Given the description of an element on the screen output the (x, y) to click on. 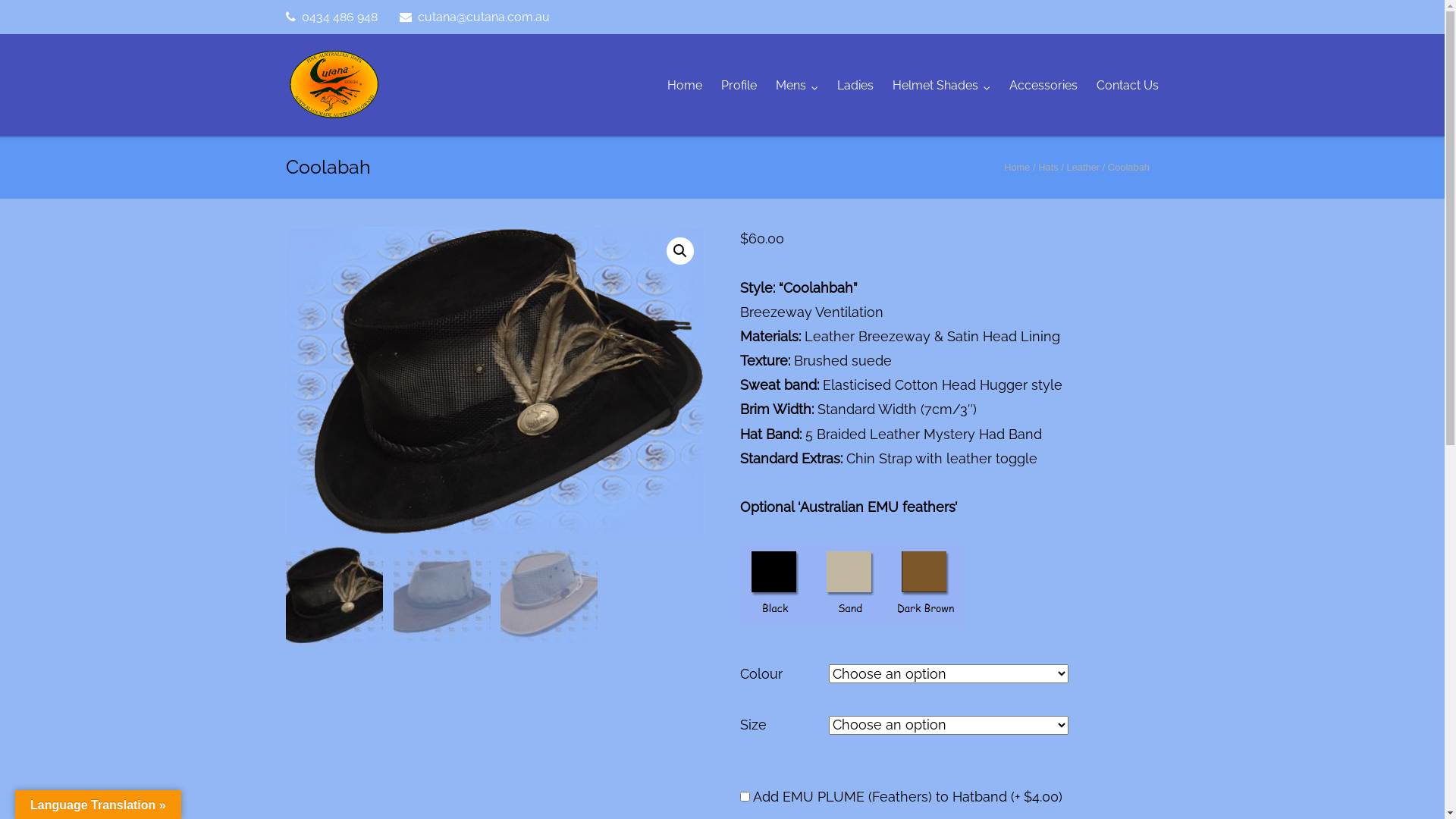
Profile Element type: text (738, 85)
Home Element type: text (1016, 166)
Ladies Element type: text (855, 85)
Mens Element type: text (796, 85)
Skip to content Element type: text (0, 0)
Helmet Shades Element type: text (941, 85)
0434 486 948 Element type: text (331, 17)
Home Element type: text (684, 85)
cutana@cutana.com.au Element type: text (474, 17)
Contact Us Element type: text (1127, 85)
Hats Element type: text (1047, 166)
Leather Element type: text (1082, 166)
Accessories Element type: text (1043, 85)
billabreezeblack Element type: hover (494, 380)
